Given the description of an element on the screen output the (x, y) to click on. 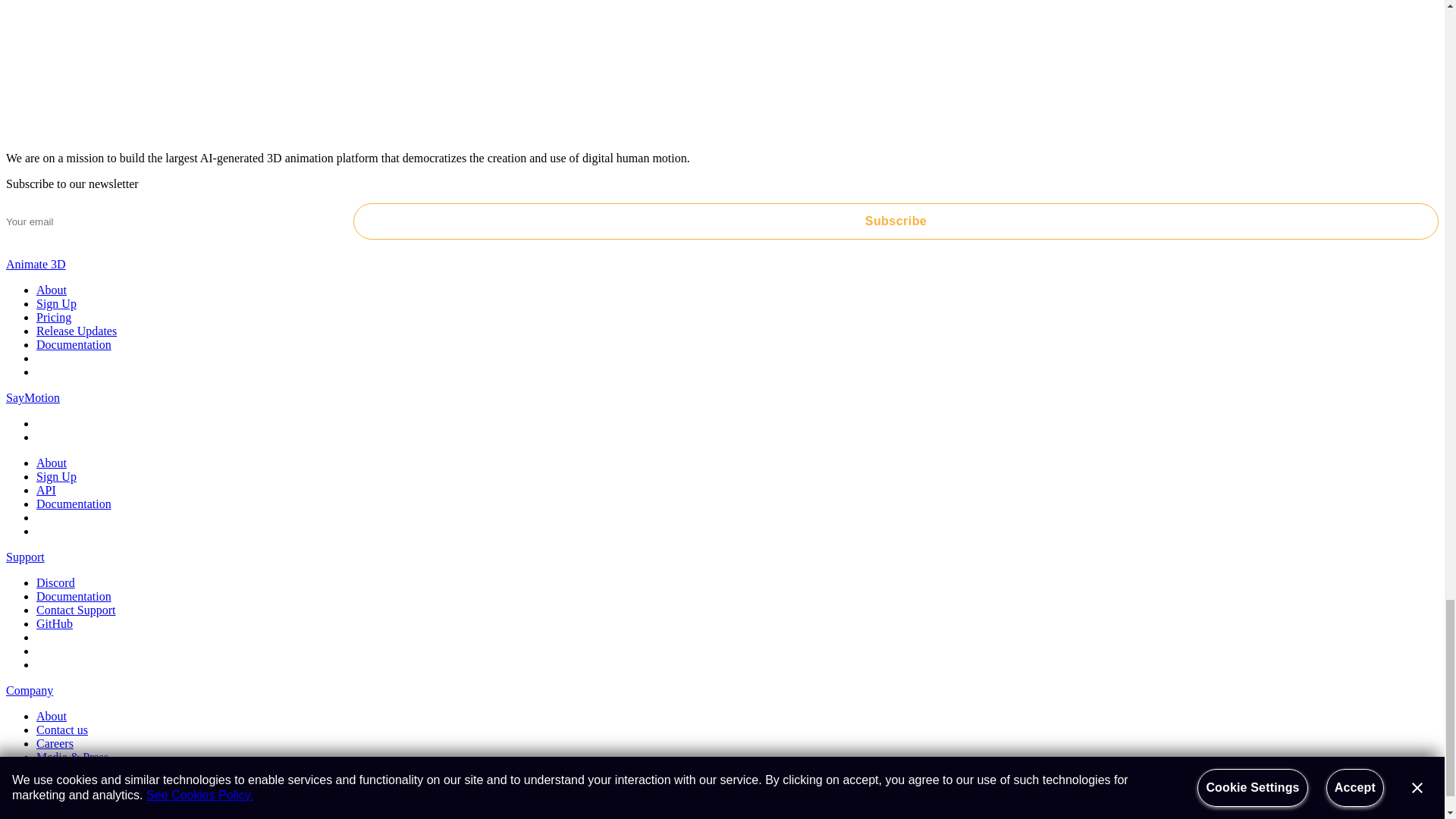
About (51, 289)
Documentation (74, 344)
Sign Up (56, 303)
Pricing (53, 317)
Release Updates (76, 330)
